Given the description of an element on the screen output the (x, y) to click on. 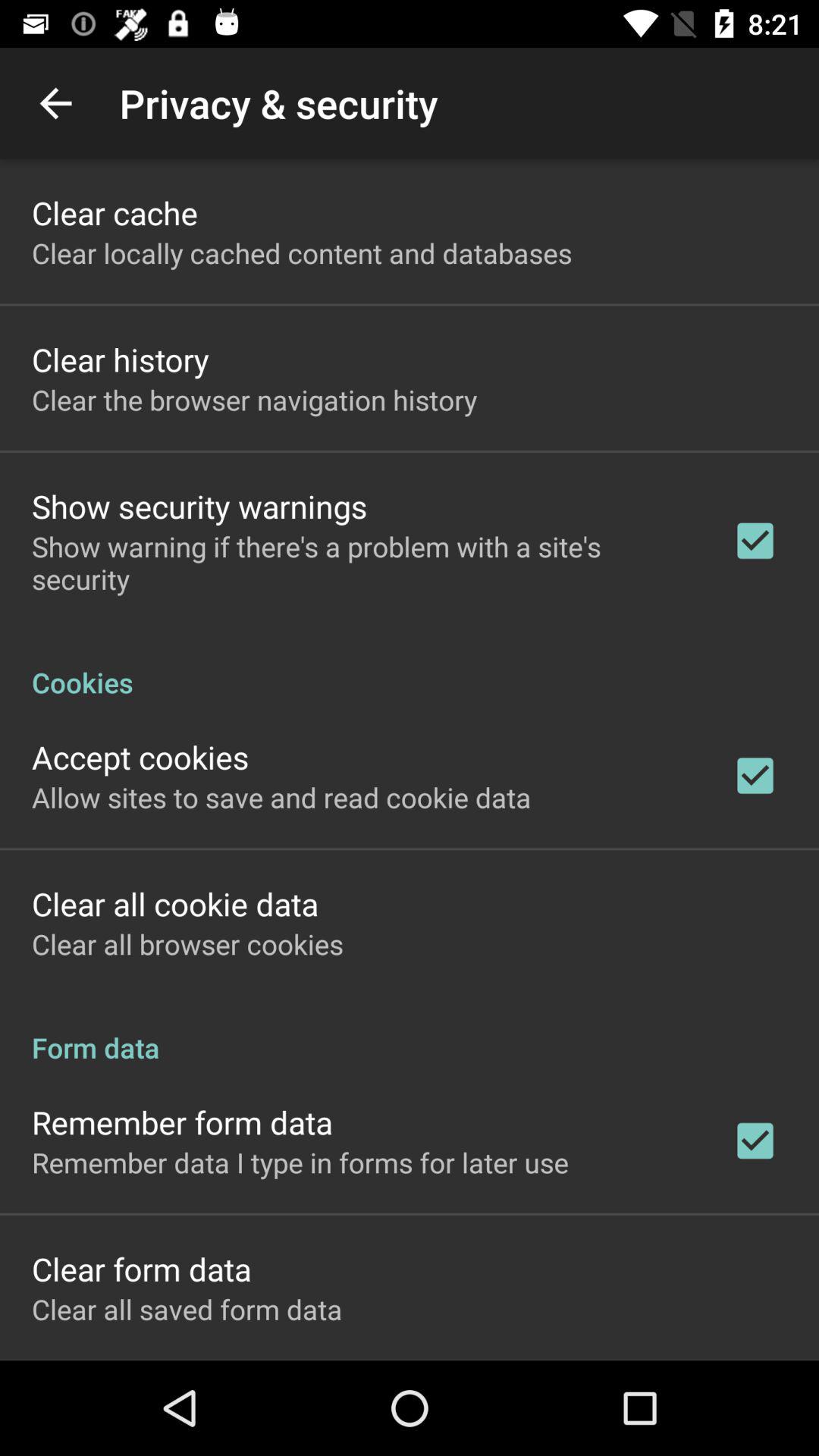
scroll until allow sites to item (281, 797)
